Given the description of an element on the screen output the (x, y) to click on. 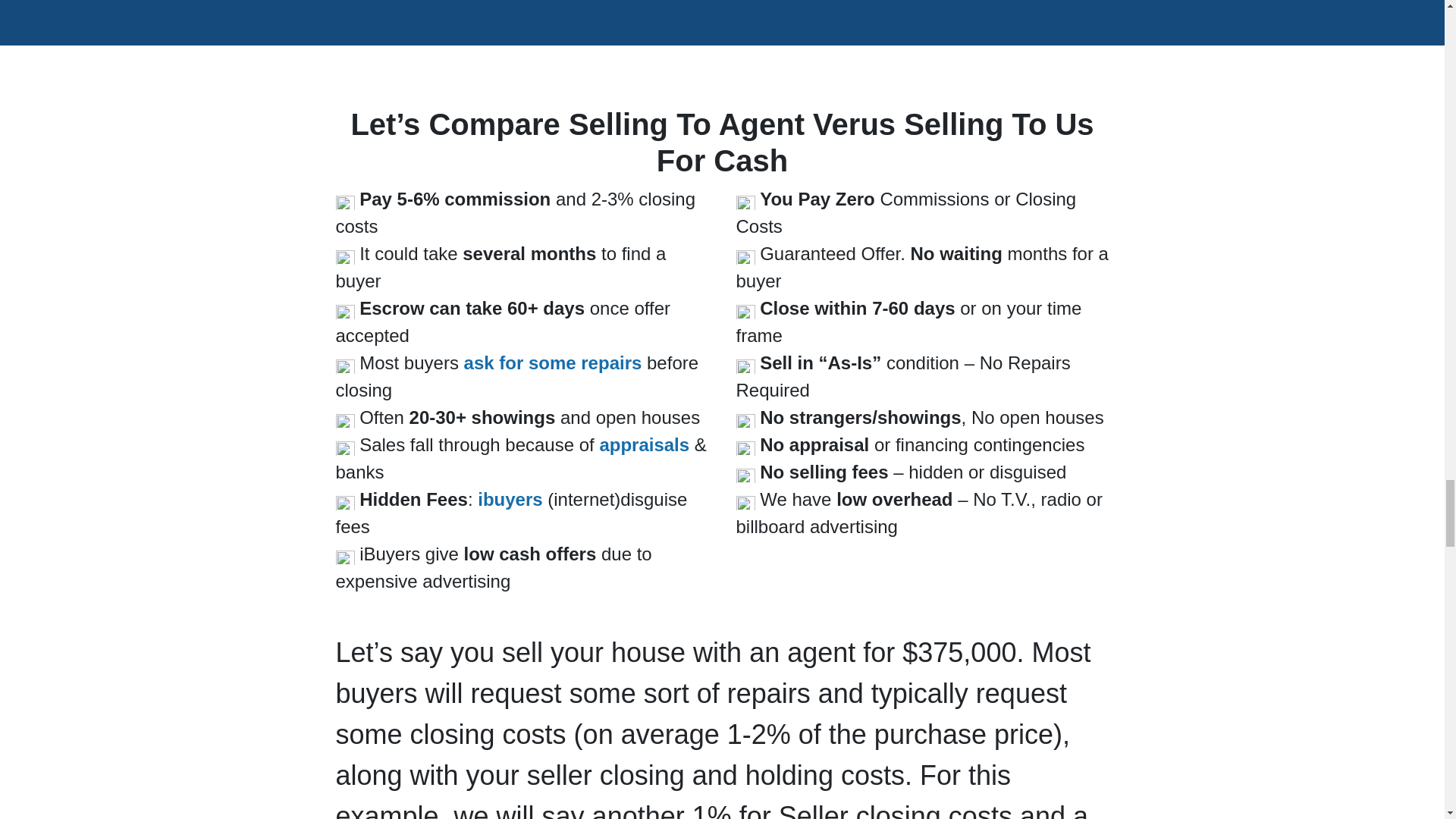
ibuyers (509, 498)
ask for some repairs (553, 362)
appraisals (643, 444)
